Given the description of an element on the screen output the (x, y) to click on. 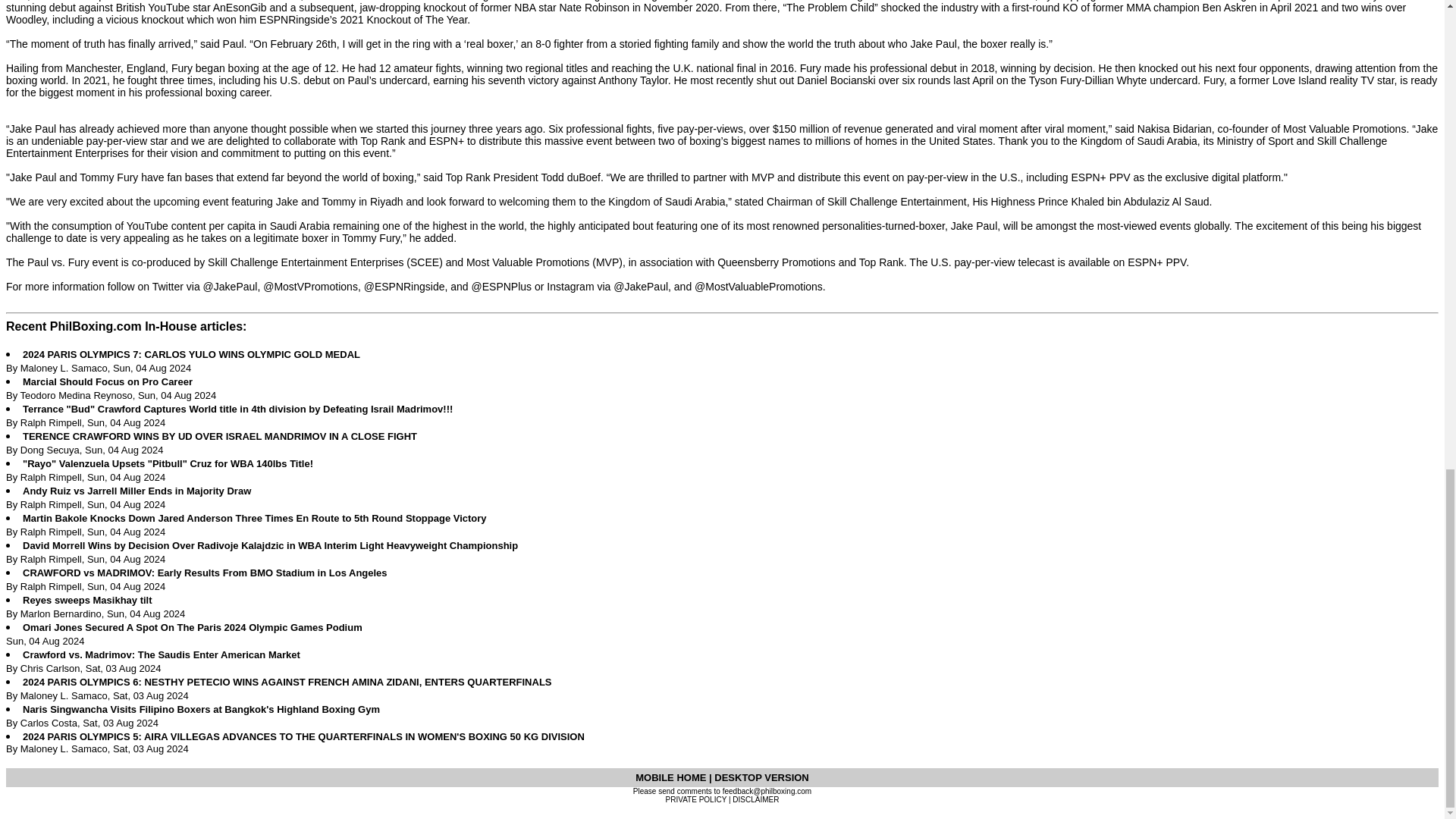
2024 PARIS OLYMPICS 7: CARLOS YULO WINS OLYMPIC GOLD MEDAL (191, 354)
DISCLAIMER (755, 799)
Reyes sweeps Masikhay tilt (87, 600)
Andy Ruiz vs Jarrell Miller Ends in Majority Draw (136, 490)
DESKTOP VERSION (761, 777)
MOBILE HOME (671, 777)
Crawford vs. Madrimov: The Saudis Enter American Market (161, 654)
